Given the description of an element on the screen output the (x, y) to click on. 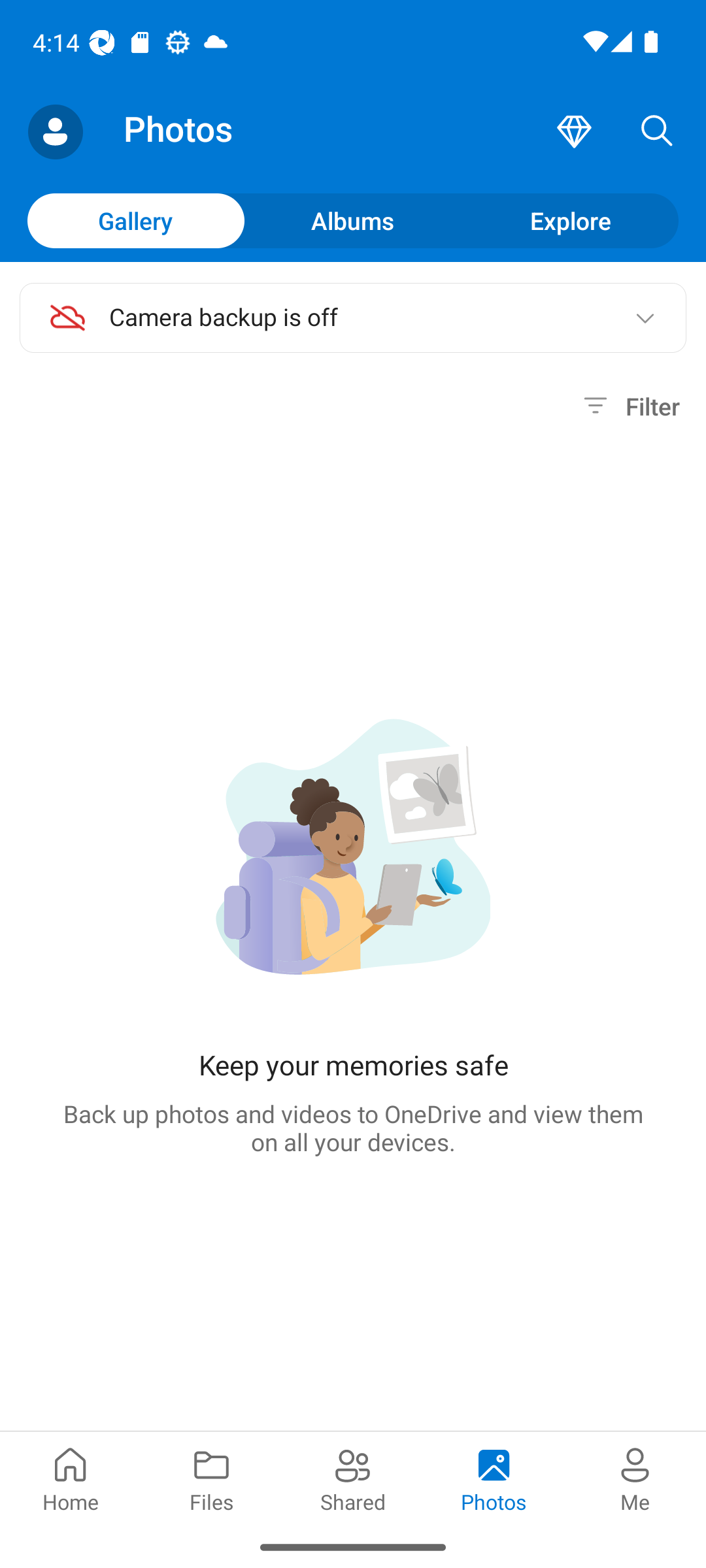
Account switcher (55, 131)
Premium button (574, 131)
Search button (656, 131)
Albums (352, 219)
Explore (569, 219)
Expand camera status banner (645, 318)
Filter (628, 405)
Home pivot Home (70, 1478)
Files pivot Files (211, 1478)
Shared pivot Shared (352, 1478)
Me pivot Me (635, 1478)
